Given the description of an element on the screen output the (x, y) to click on. 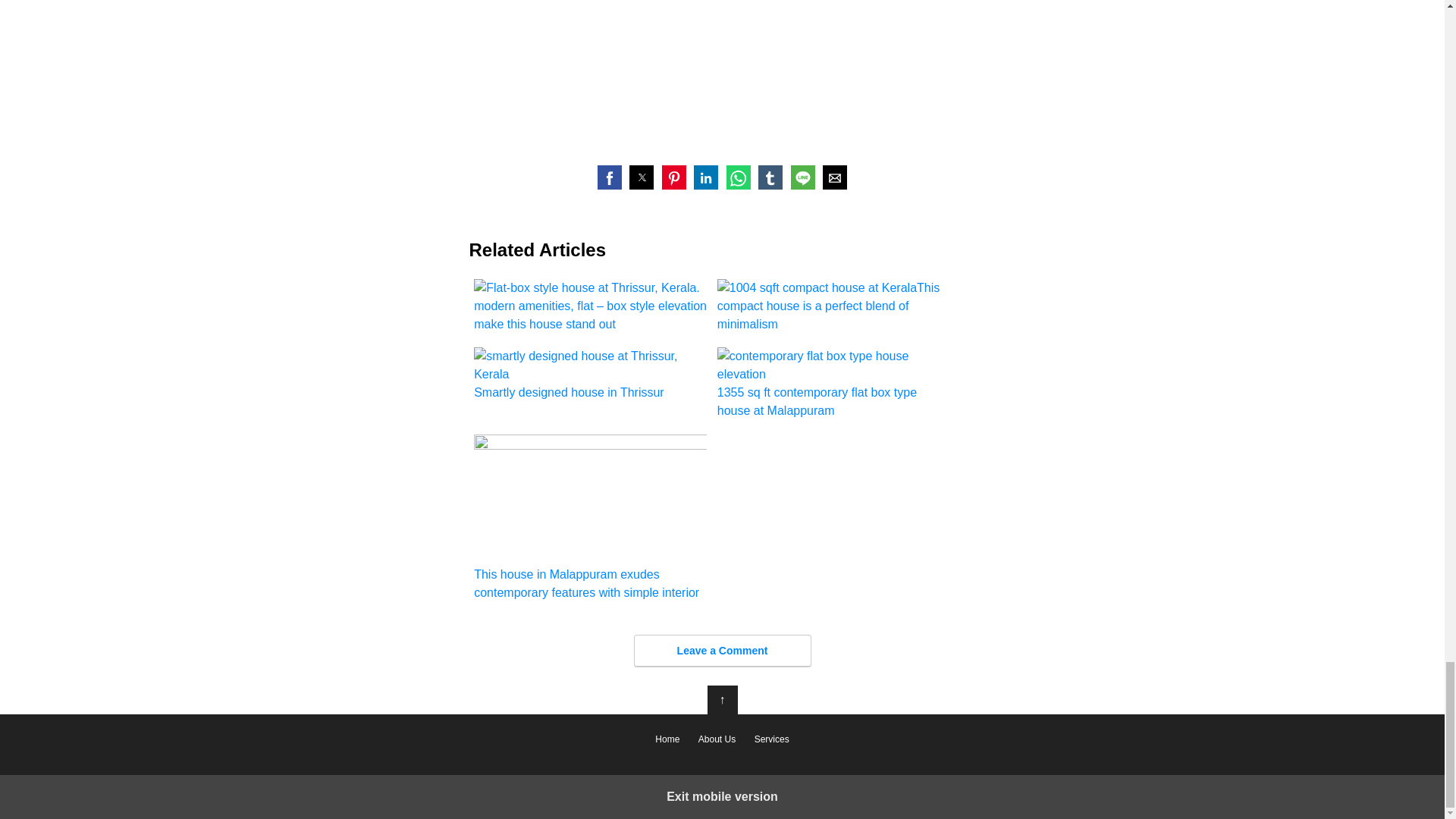
This compact house is a perfect blend of minimalism (833, 306)
Leave a Comment (721, 650)
Services (771, 738)
1355 sq ft contemporary flat box type house at Malappuram (833, 383)
About Us (716, 738)
Smartly designed house in Thrissur (590, 374)
Home (667, 738)
